Given the description of an element on the screen output the (x, y) to click on. 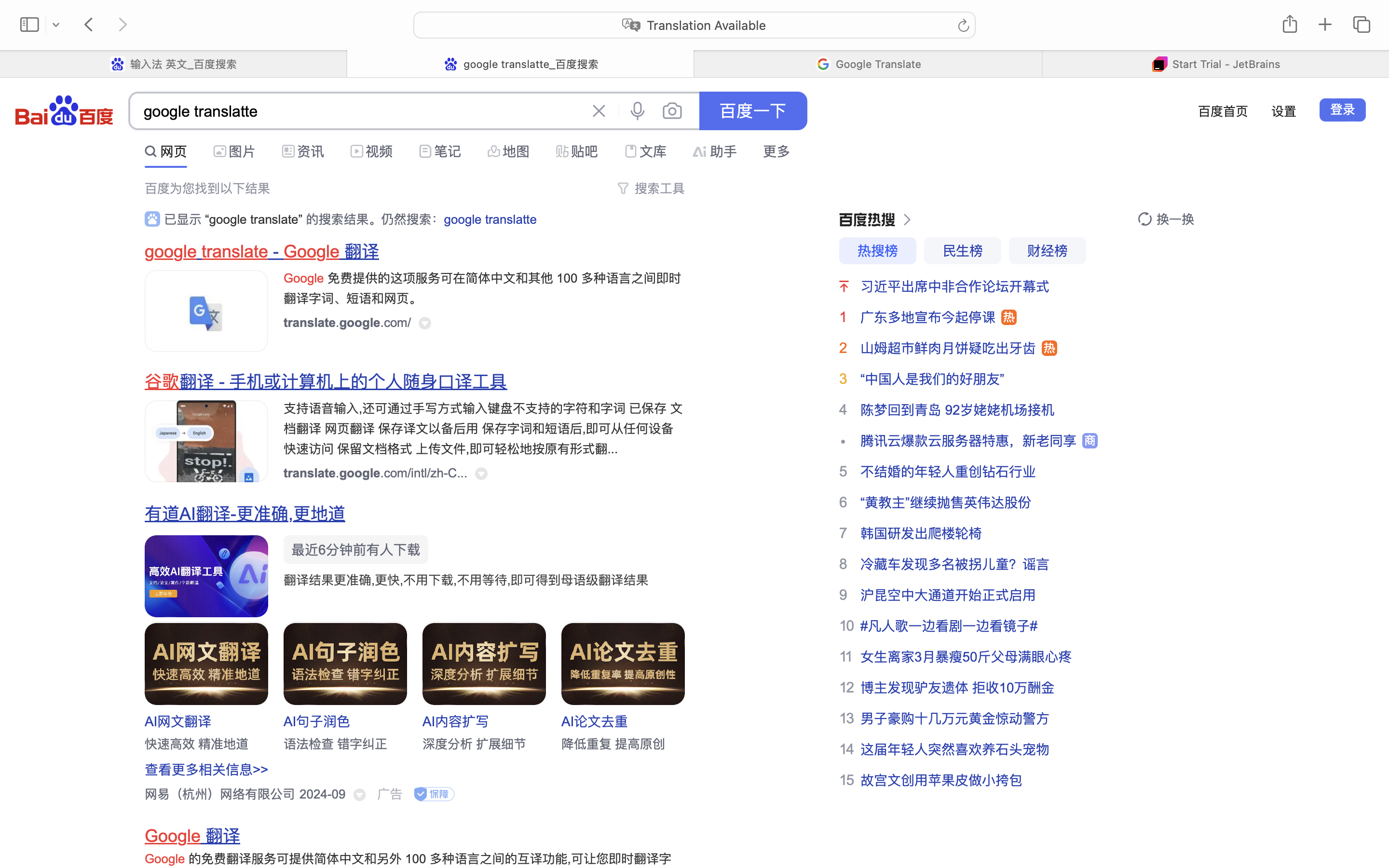
网易（杭州）网络有限公司 Element type: AXStaticText (219, 793)
热搜榜 Element type: AXStaticText (877, 250)
深度分析 扩展细节 Element type: AXStaticText (474, 743)
10 Element type: AXStaticText (846, 625)
 Element type: AXStaticText (219, 151)
